Given the description of an element on the screen output the (x, y) to click on. 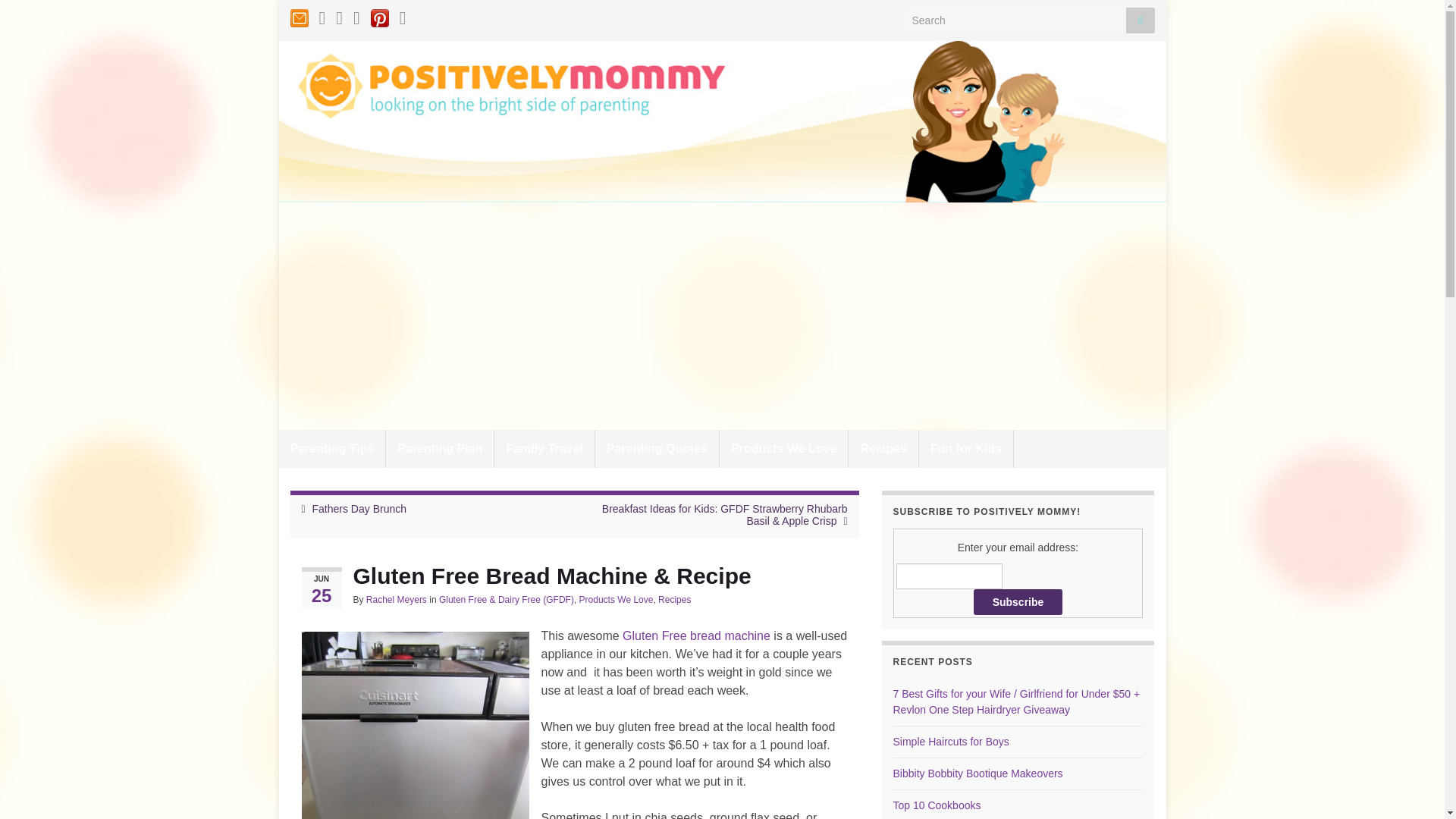
Rachel Meyers (396, 599)
Get updates in your email (298, 15)
Parenting Plan (439, 448)
Products We Love (783, 448)
Recipes (882, 448)
Products We Love (616, 599)
Family Travel (544, 448)
Fathers Day Brunch (360, 508)
Subscribe (1018, 601)
Parenting Tips (332, 448)
Recipes (674, 599)
Parenting Quotes (657, 448)
